Given the description of an element on the screen output the (x, y) to click on. 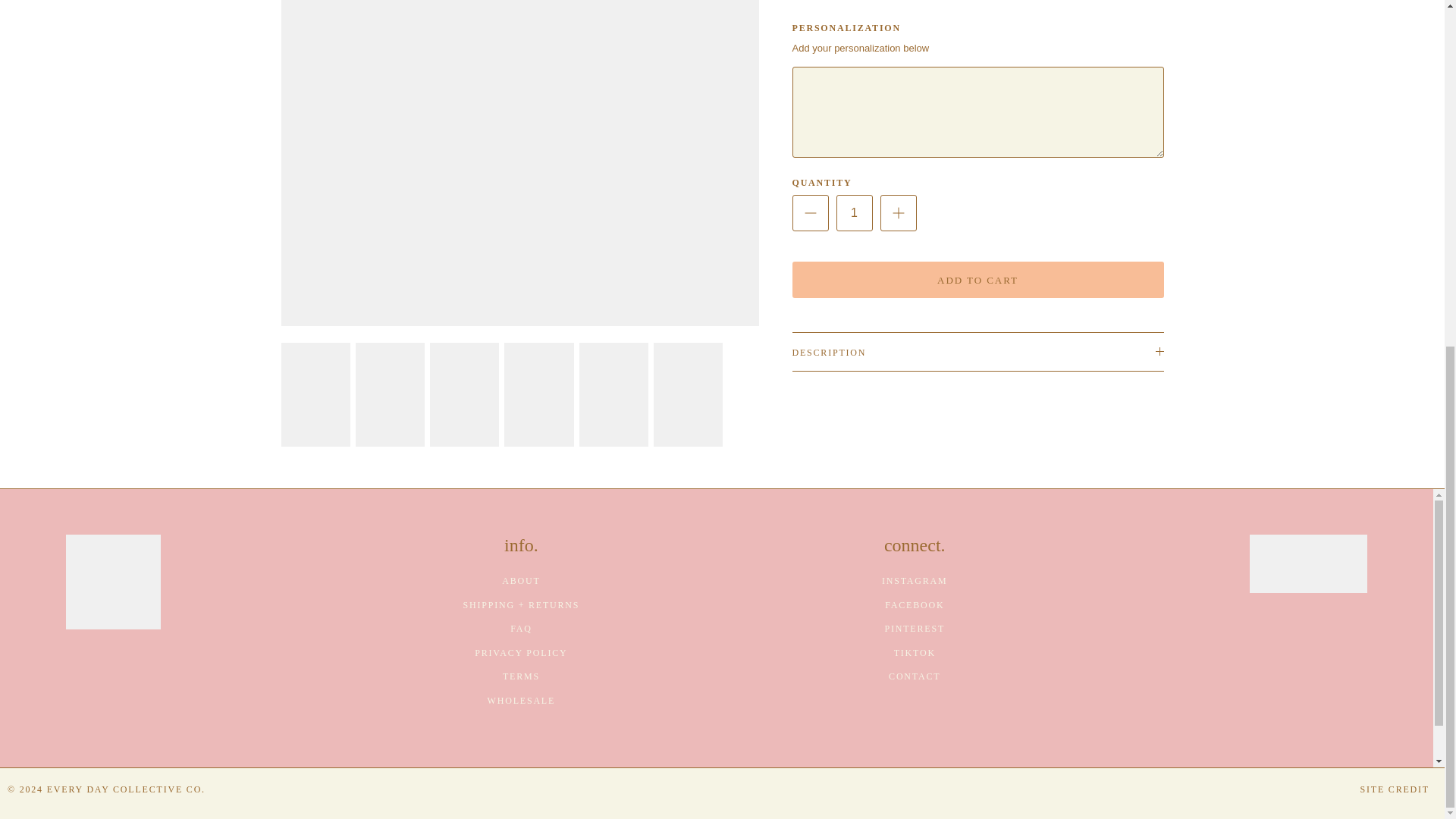
Minus (809, 212)
1 (853, 212)
Plus (897, 212)
